Given the description of an element on the screen output the (x, y) to click on. 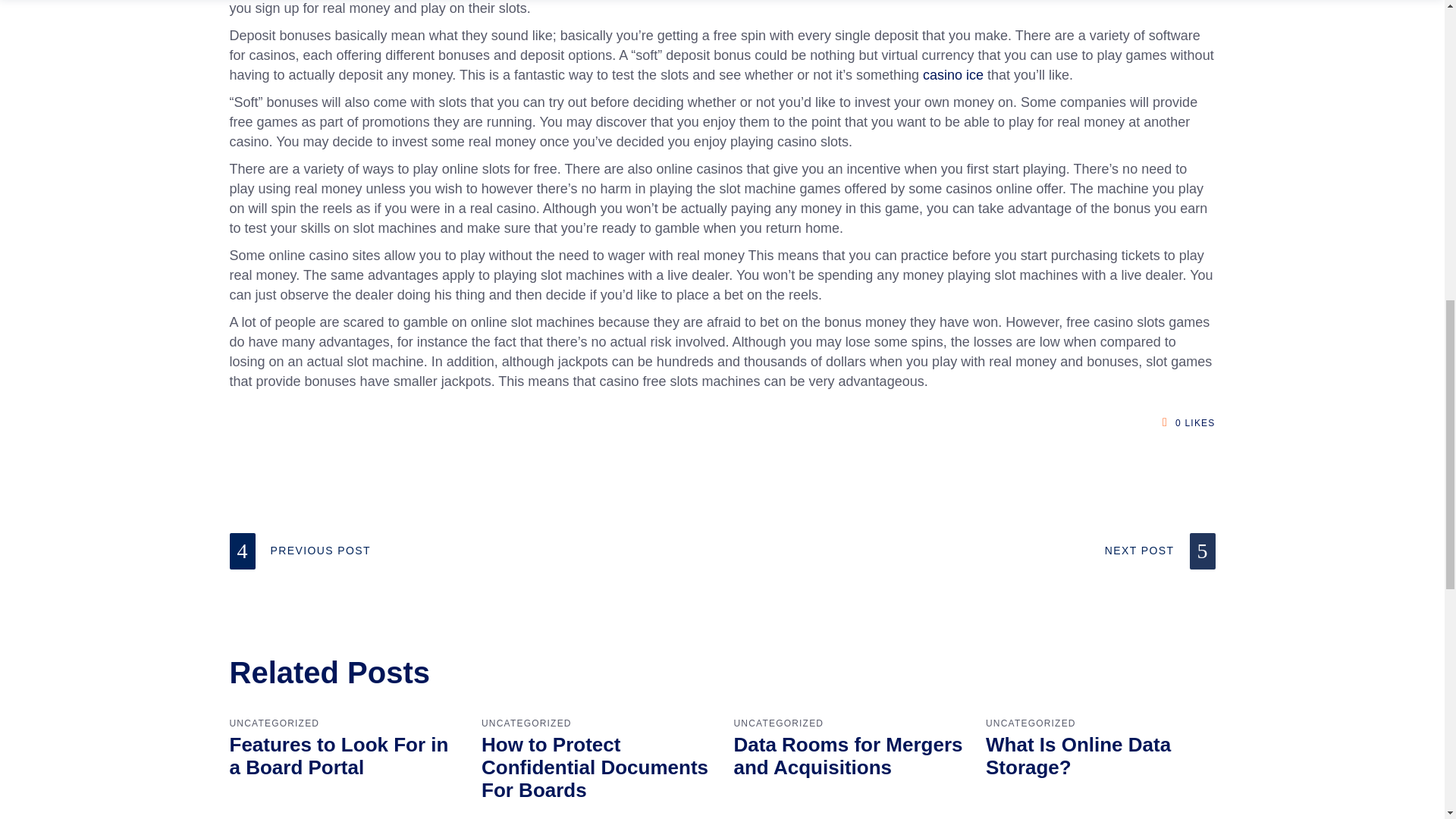
Features to Look For in a Board Portal (338, 755)
Like this (1170, 422)
What Is Online Data Storage? (1077, 755)
Data Rooms for Mergers and Acquisitions (847, 755)
How to Protect Confidential Documents For Boards (594, 767)
